Given the description of an element on the screen output the (x, y) to click on. 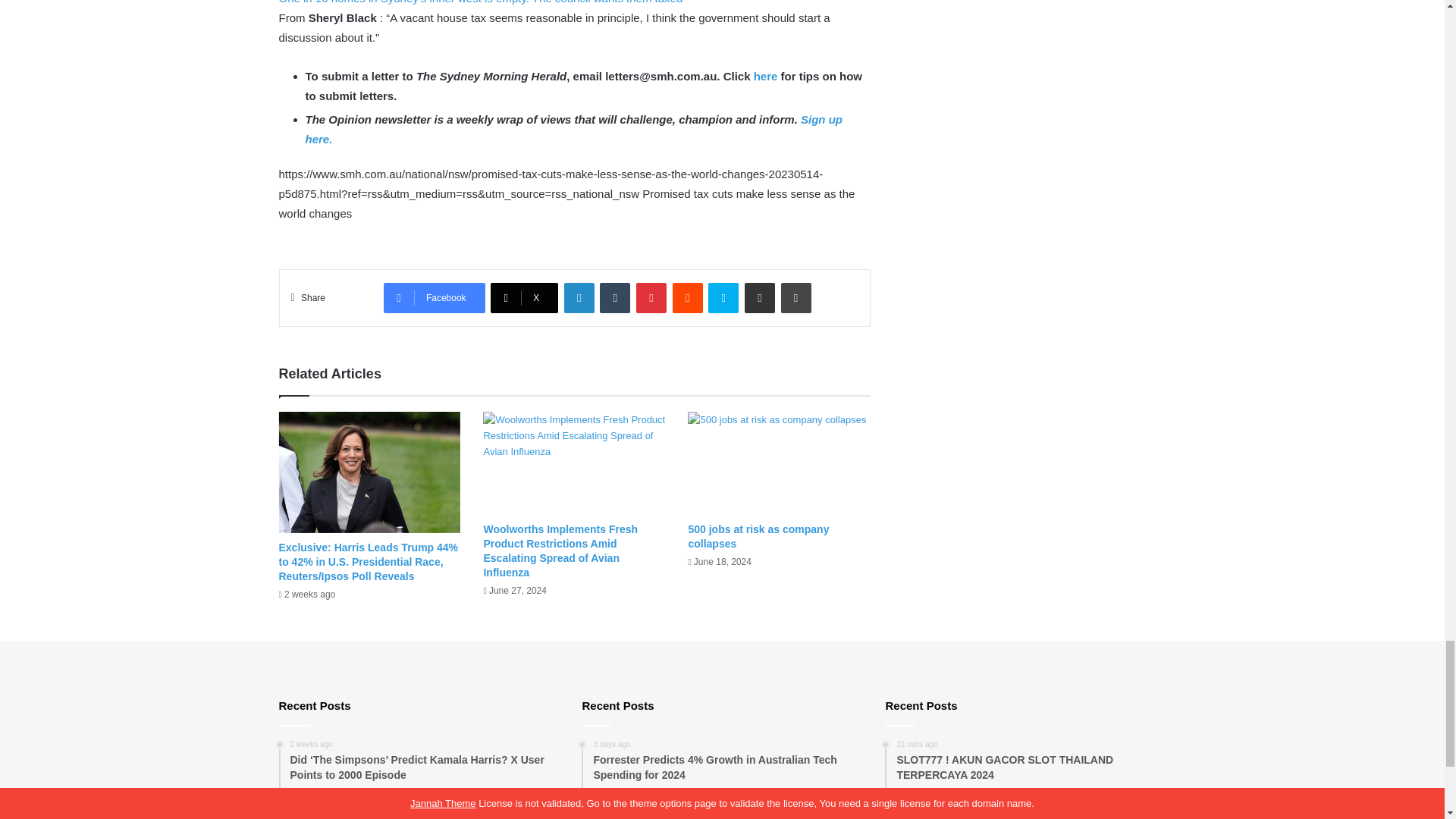
Tumblr (614, 297)
Skype (722, 297)
LinkedIn (579, 297)
Reddit (687, 297)
Pinterest (651, 297)
Facebook (434, 297)
X (523, 297)
